Given the description of an element on the screen output the (x, y) to click on. 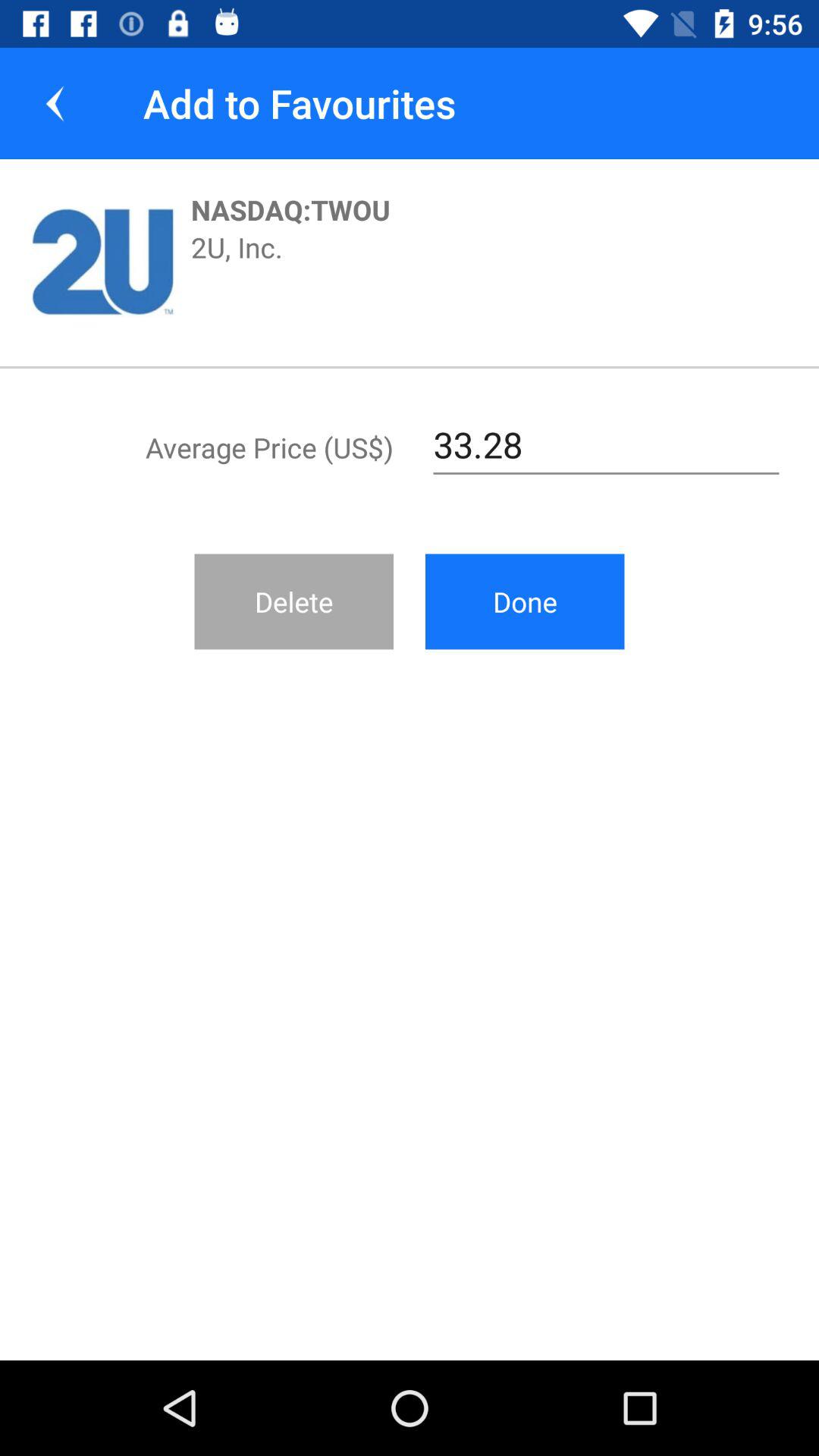
click delete (293, 601)
